Given the description of an element on the screen output the (x, y) to click on. 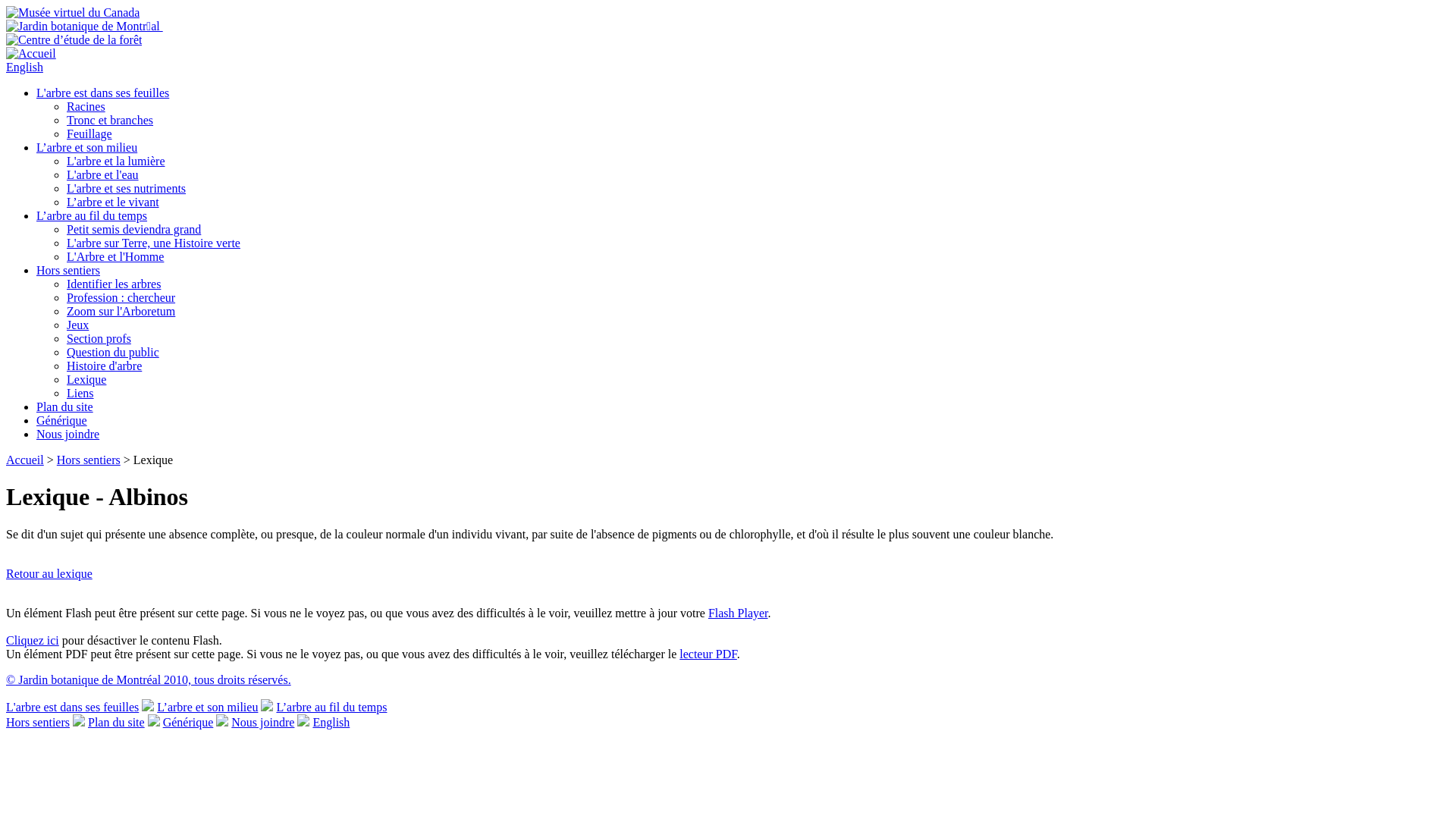
Tronc et branches Element type: text (109, 119)
L'arbre est dans ses feuilles Element type: text (72, 706)
Flash Player Element type: text (738, 612)
Hors sentiers Element type: text (68, 269)
Nous joindre Element type: text (262, 721)
Histoire d'arbre Element type: text (103, 365)
Liens Element type: text (80, 392)
English Element type: text (24, 66)
Jeux Element type: text (77, 324)
Lexique Element type: text (86, 379)
L'arbre est dans ses feuilles Element type: text (102, 92)
Racines Element type: text (85, 106)
Nous joindre Element type: text (67, 433)
Question du public Element type: text (112, 351)
Identifier les arbres Element type: text (113, 283)
L'arbre et l'eau Element type: text (102, 174)
L'Arbre et l'Homme Element type: text (114, 256)
English Element type: text (330, 721)
L'arbre et ses nutriments Element type: text (125, 188)
Accueil Element type: text (24, 459)
Plan du site Element type: text (115, 721)
Retour au lexique Element type: text (49, 573)
Hors sentiers Element type: text (88, 459)
Cliquez ici Element type: text (32, 639)
Section profs Element type: text (98, 338)
Hors sentiers Element type: text (37, 721)
Zoom sur l'Arboretum Element type: text (120, 310)
lecteur PDF Element type: text (708, 653)
Petit semis deviendra grand Element type: text (133, 228)
Profession : chercheur Element type: text (120, 297)
Plan du site Element type: text (64, 406)
Feuillage Element type: text (89, 133)
L'arbre sur Terre, une Histoire verte Element type: text (153, 242)
